Given the description of an element on the screen output the (x, y) to click on. 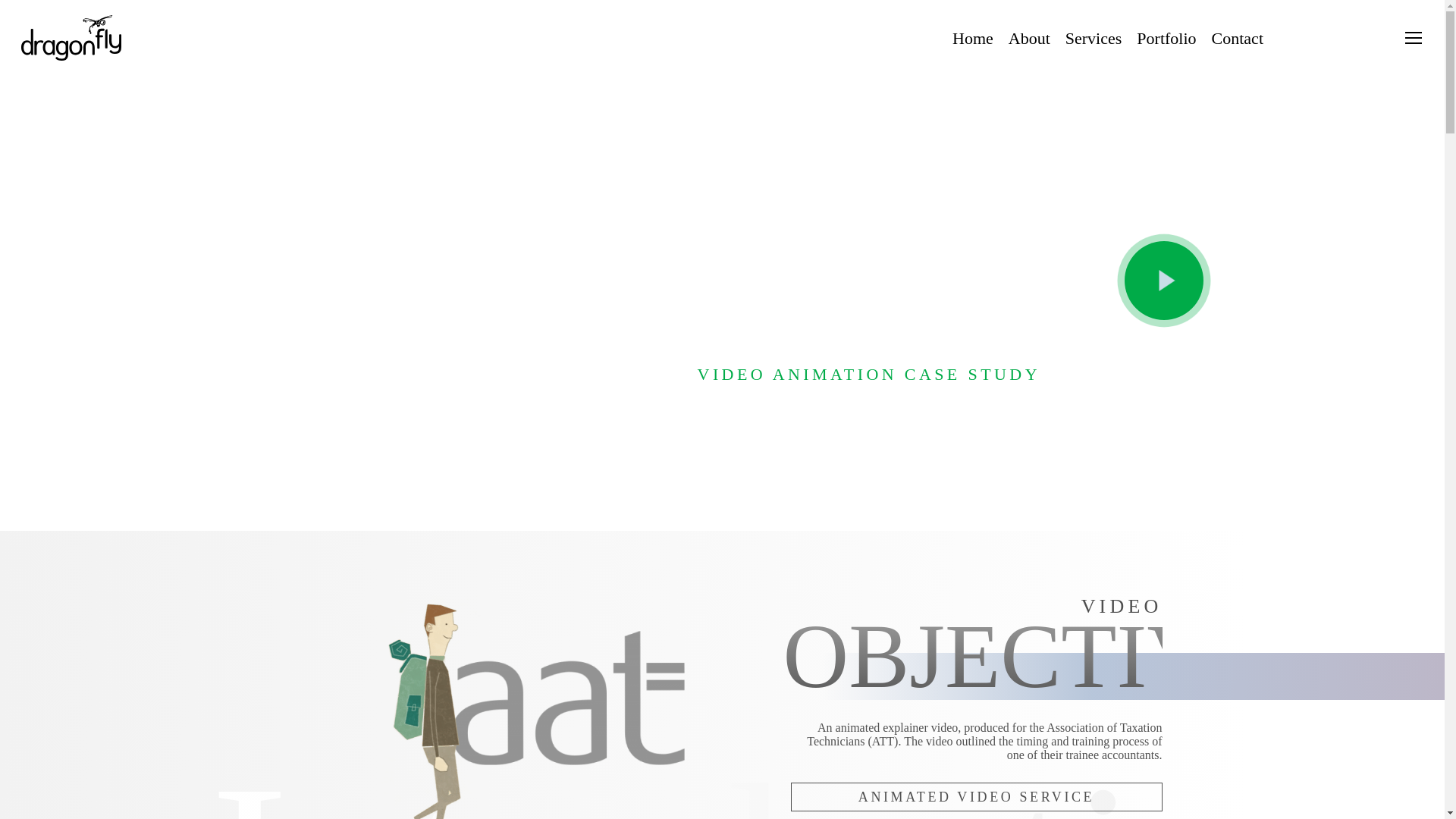
About (1029, 37)
Home (972, 37)
Portfolio (1166, 37)
ANIMATED VIDEO SERVICE (975, 796)
Services (1093, 37)
Aat Hand-Drawn Animated Character (532, 707)
Contact (1237, 37)
